Given the description of an element on the screen output the (x, y) to click on. 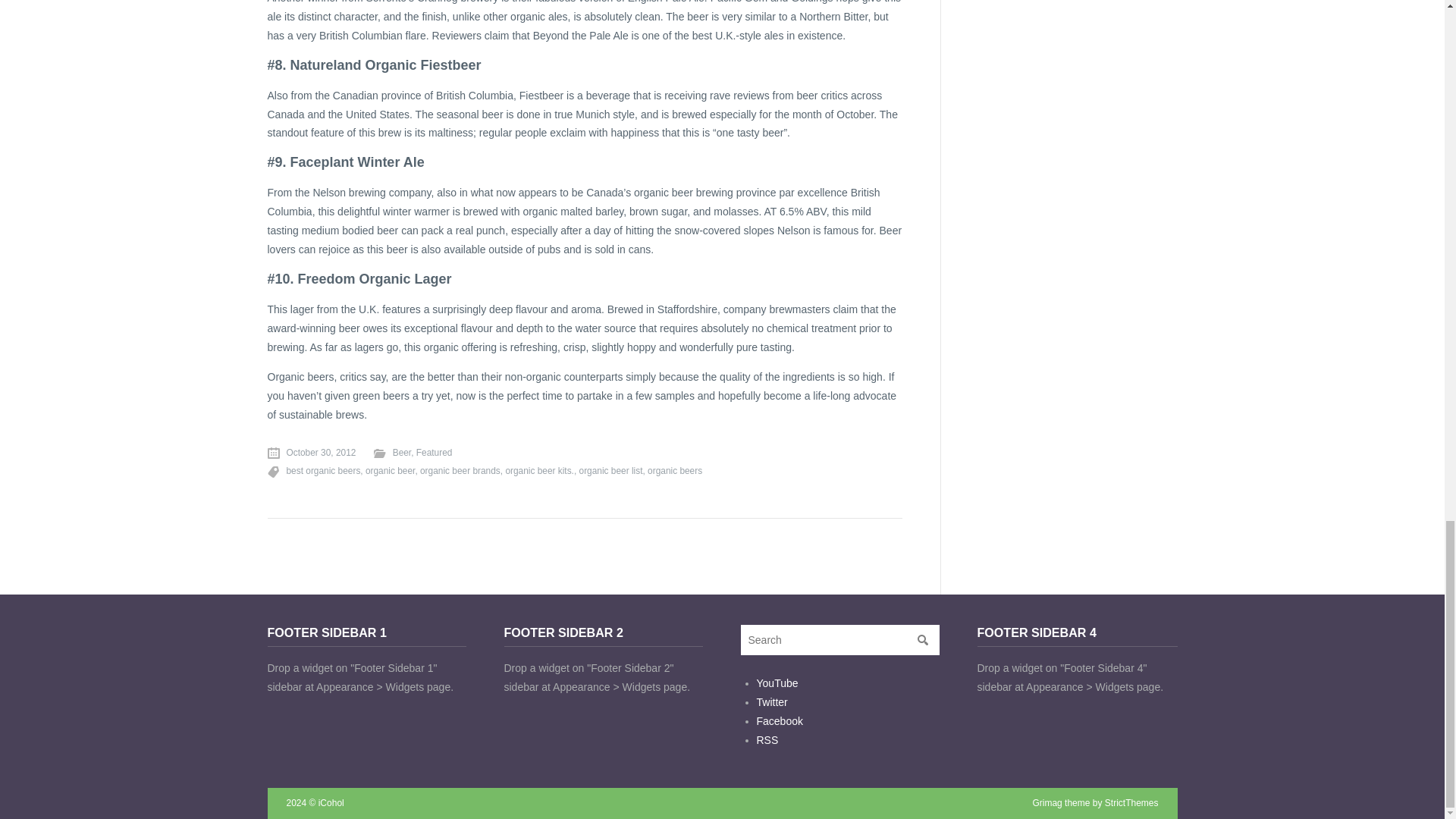
RSS (767, 739)
organic beers (674, 470)
Search (922, 639)
StrictThemes (1131, 802)
Beer (392, 452)
Search (922, 639)
organic beer list (611, 470)
Featured (434, 452)
Facebook (780, 720)
organic beer kits. (539, 470)
